Given the description of an element on the screen output the (x, y) to click on. 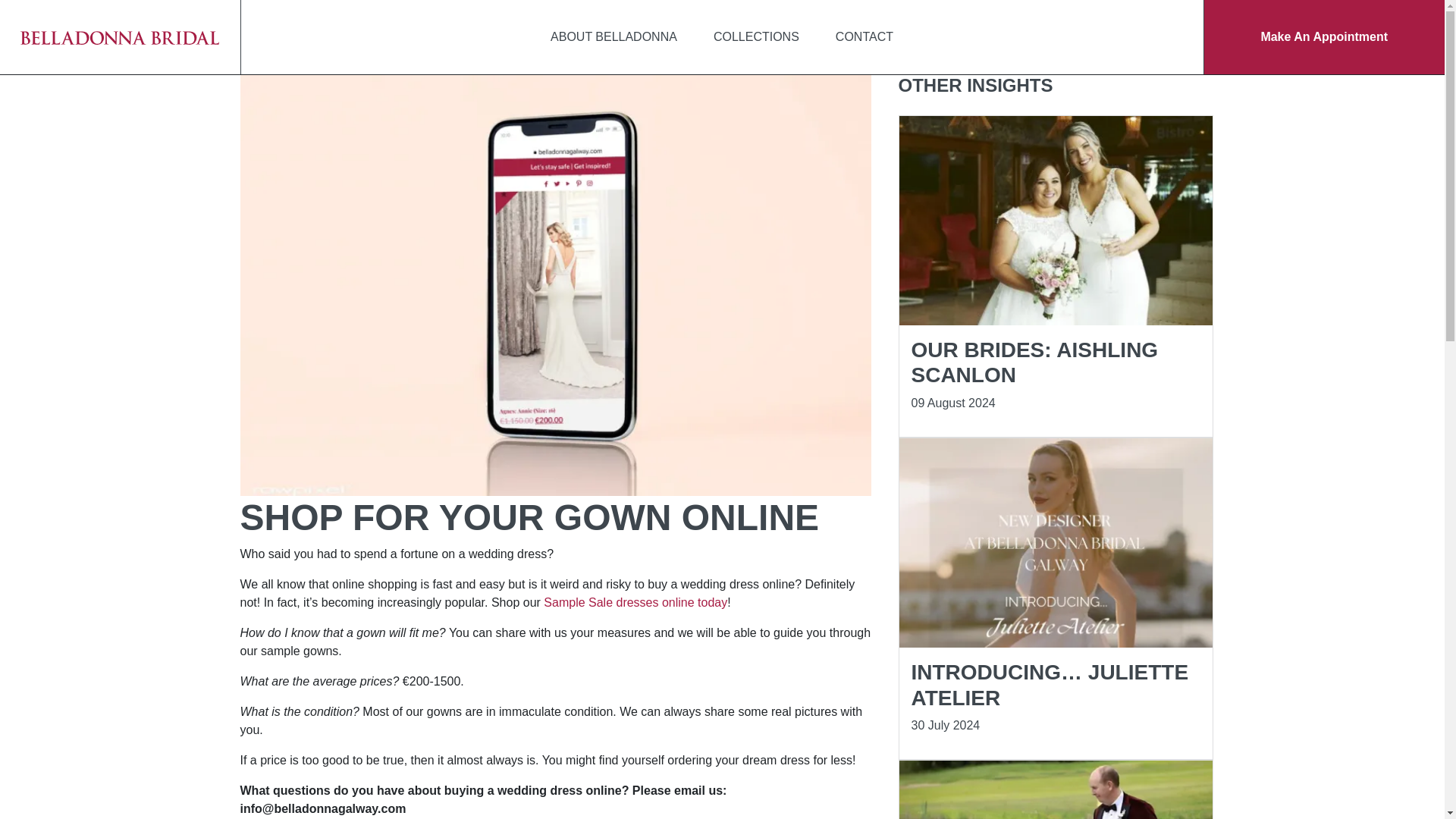
Belladonna Bridal Home (119, 36)
OUR BRIDES: AISHLING SCANLON (1034, 362)
CONTACT (863, 37)
Sample Sale dresses online today (634, 602)
COLLECTIONS (755, 37)
Read more about Our Brides: Aishling Scanlon (1034, 362)
ABOUT BELLADONNA (613, 37)
